Given the description of an element on the screen output the (x, y) to click on. 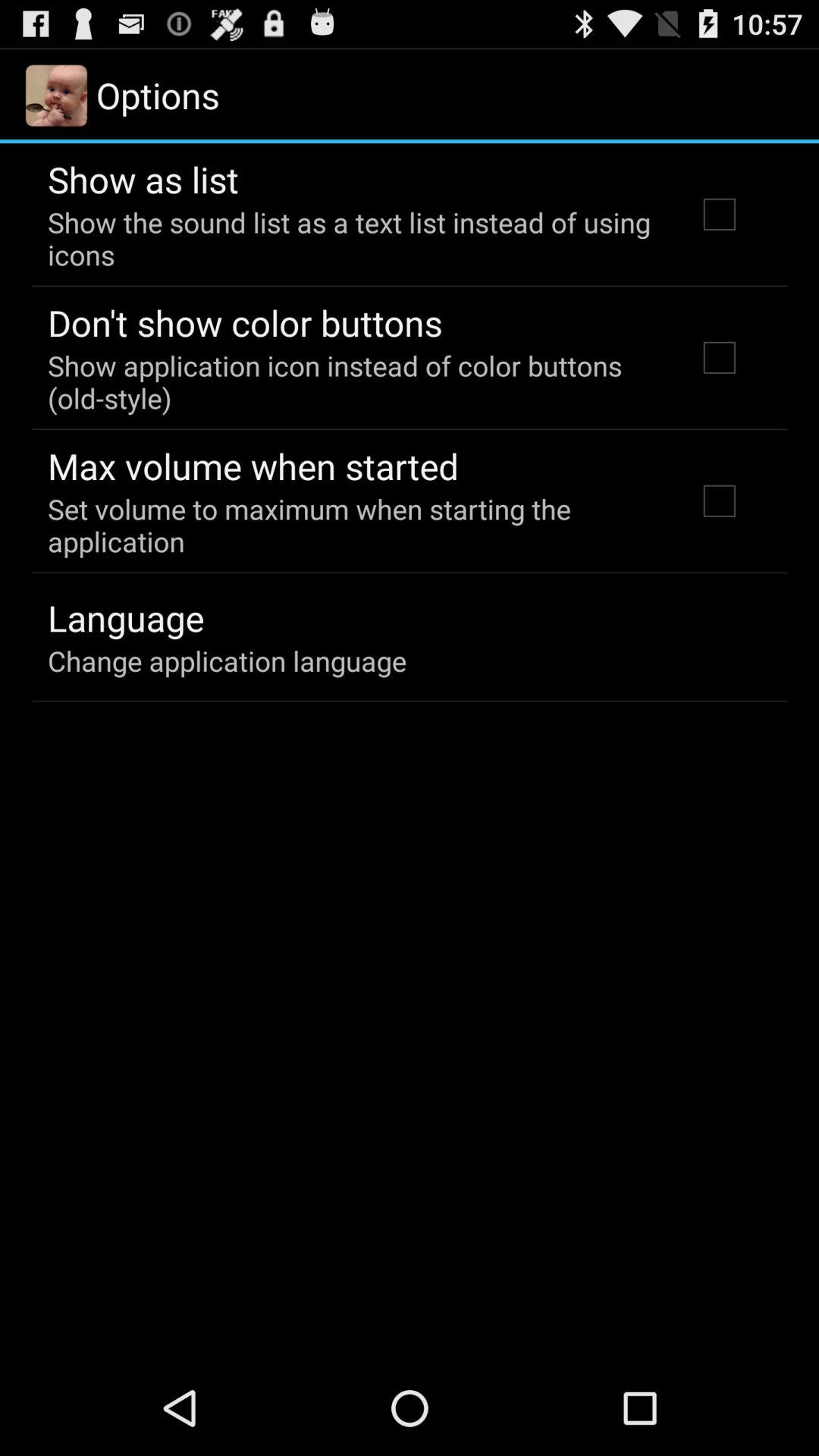
choose show the sound icon (351, 238)
